Given the description of an element on the screen output the (x, y) to click on. 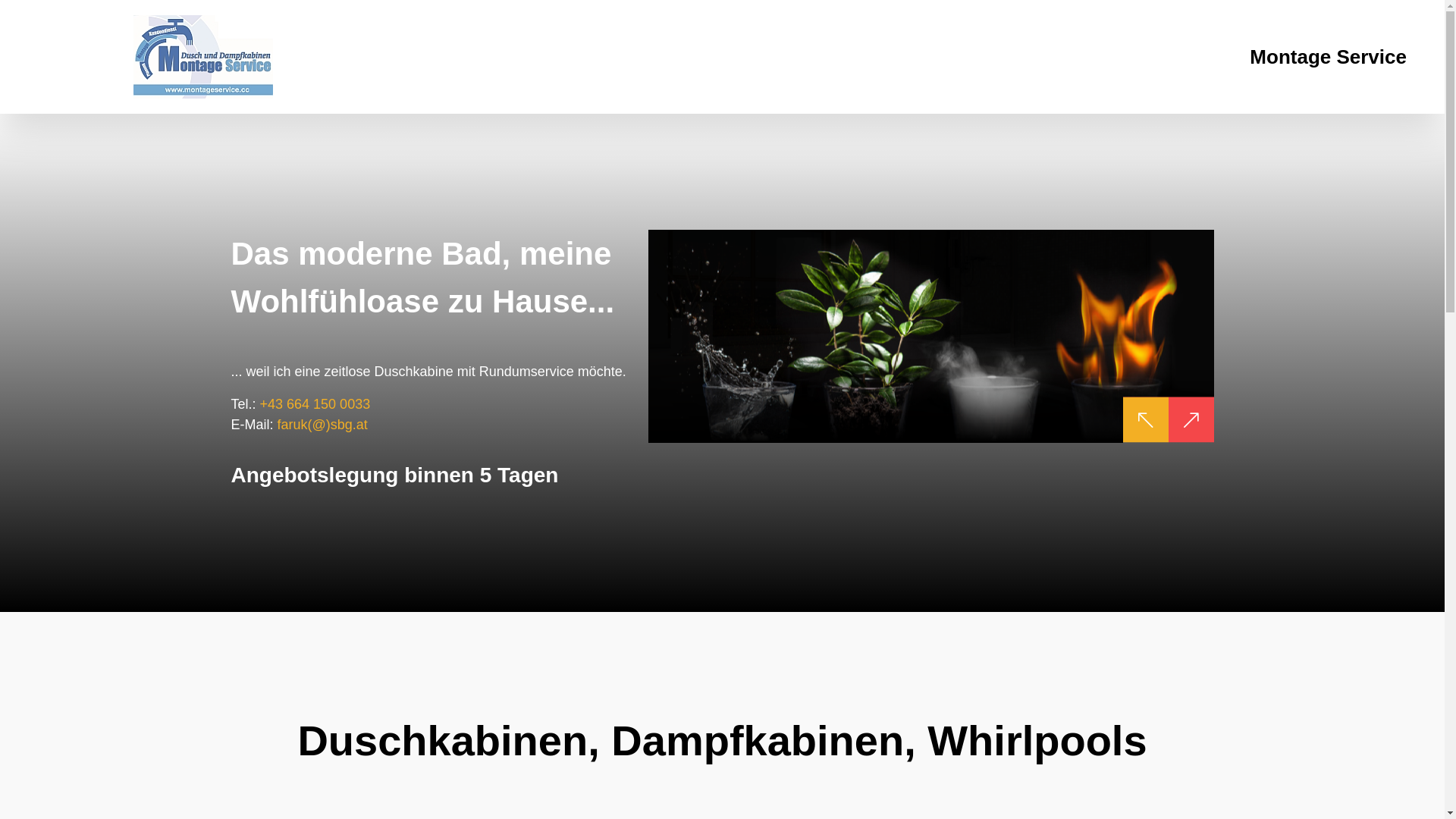
+43 664 150 0033 Element type: text (315, 403)
Previous Element type: text (1144, 419)
Next Element type: text (1190, 419)
faruk(@)sbg.at Element type: text (322, 423)
Montage Service Element type: text (1327, 55)
